Given the description of an element on the screen output the (x, y) to click on. 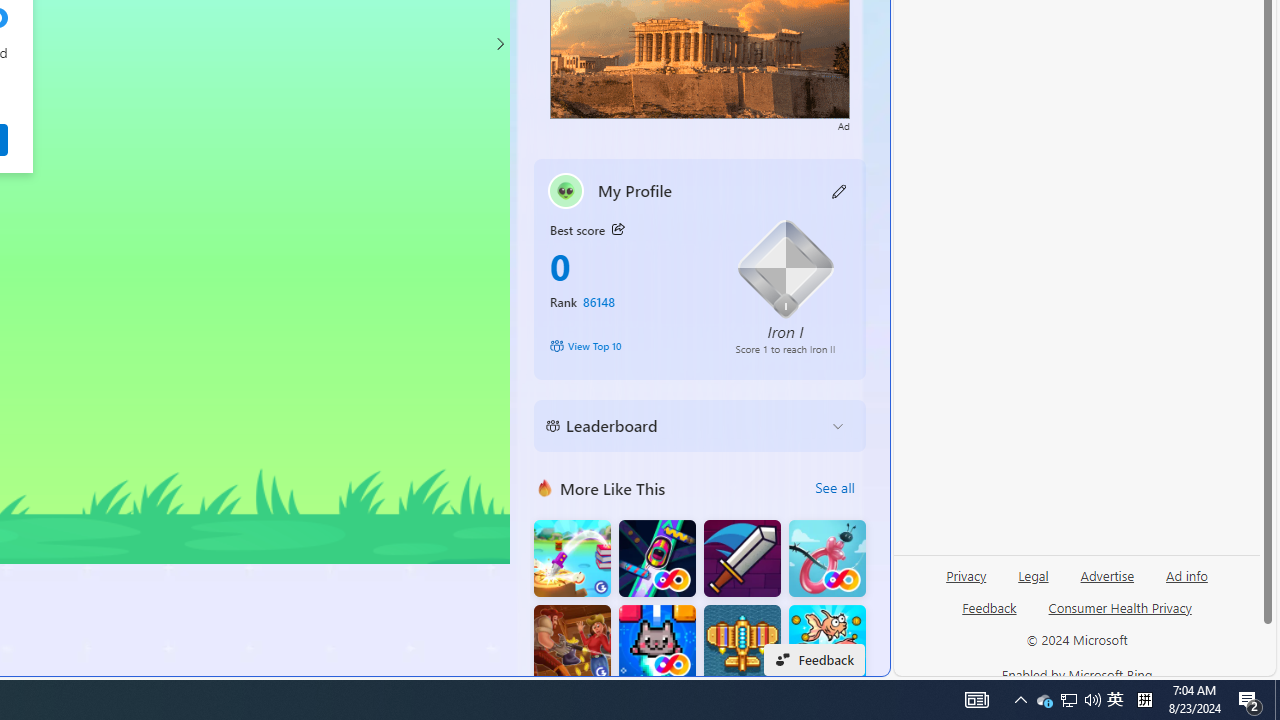
Bumper Car FRVR (657, 558)
See all (834, 487)
Dungeon Master Knight (742, 558)
Class: button (617, 229)
See all (834, 487)
Balloon FRVR (827, 558)
""'s avatar (565, 190)
